Given the description of an element on the screen output the (x, y) to click on. 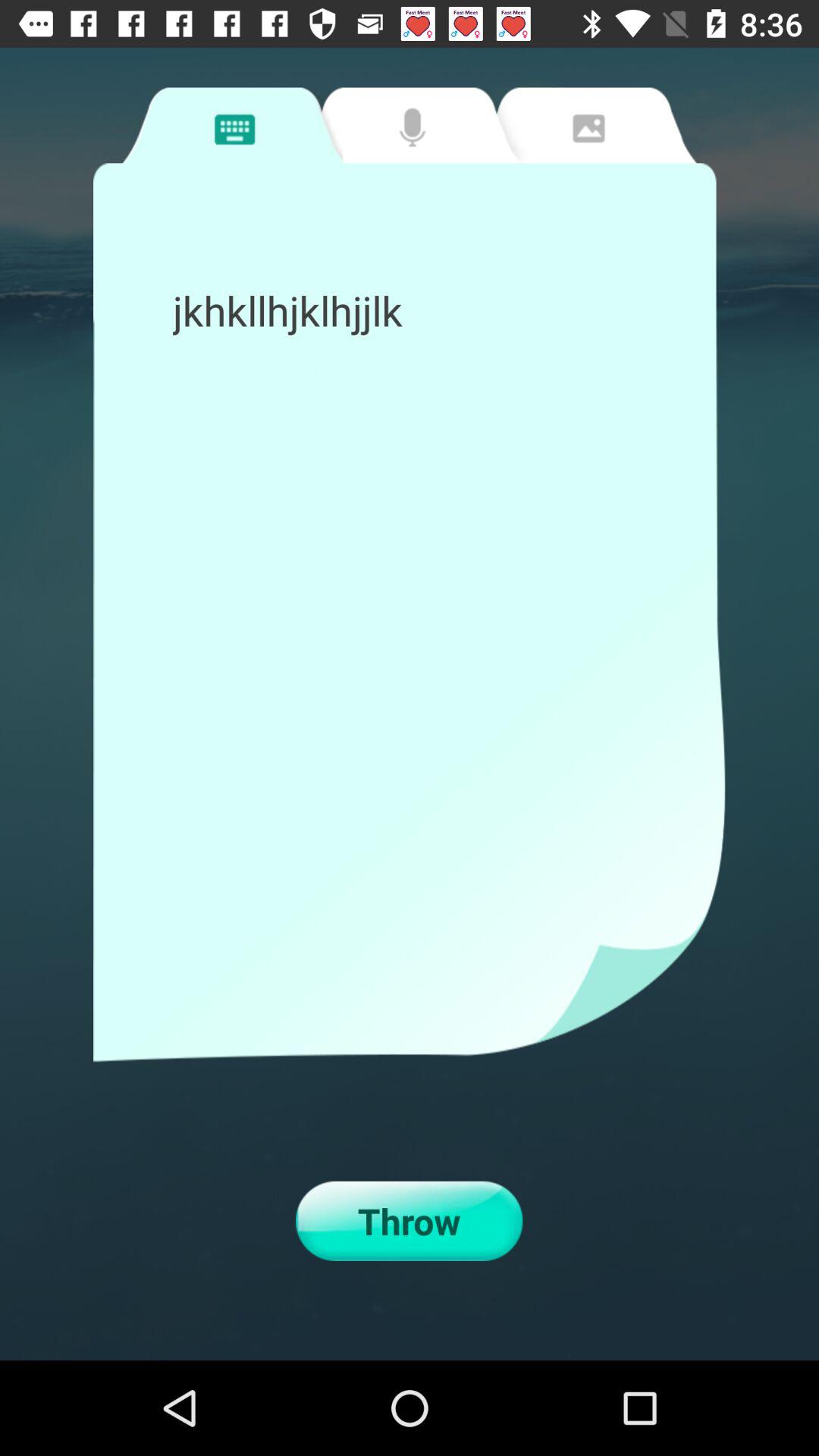
change to image (586, 125)
